Given the description of an element on the screen output the (x, y) to click on. 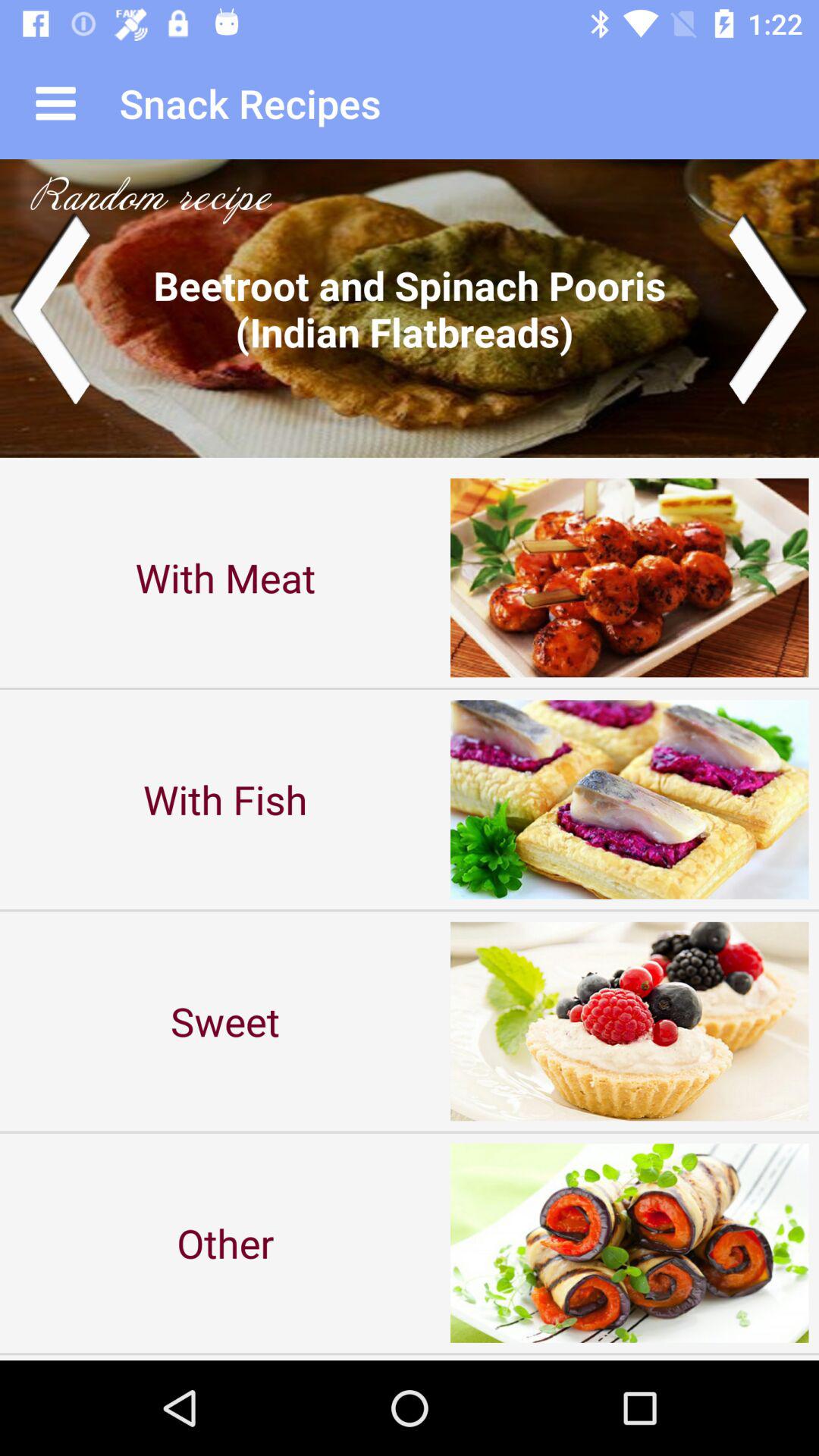
turn on sweet item (225, 1020)
